Given the description of an element on the screen output the (x, y) to click on. 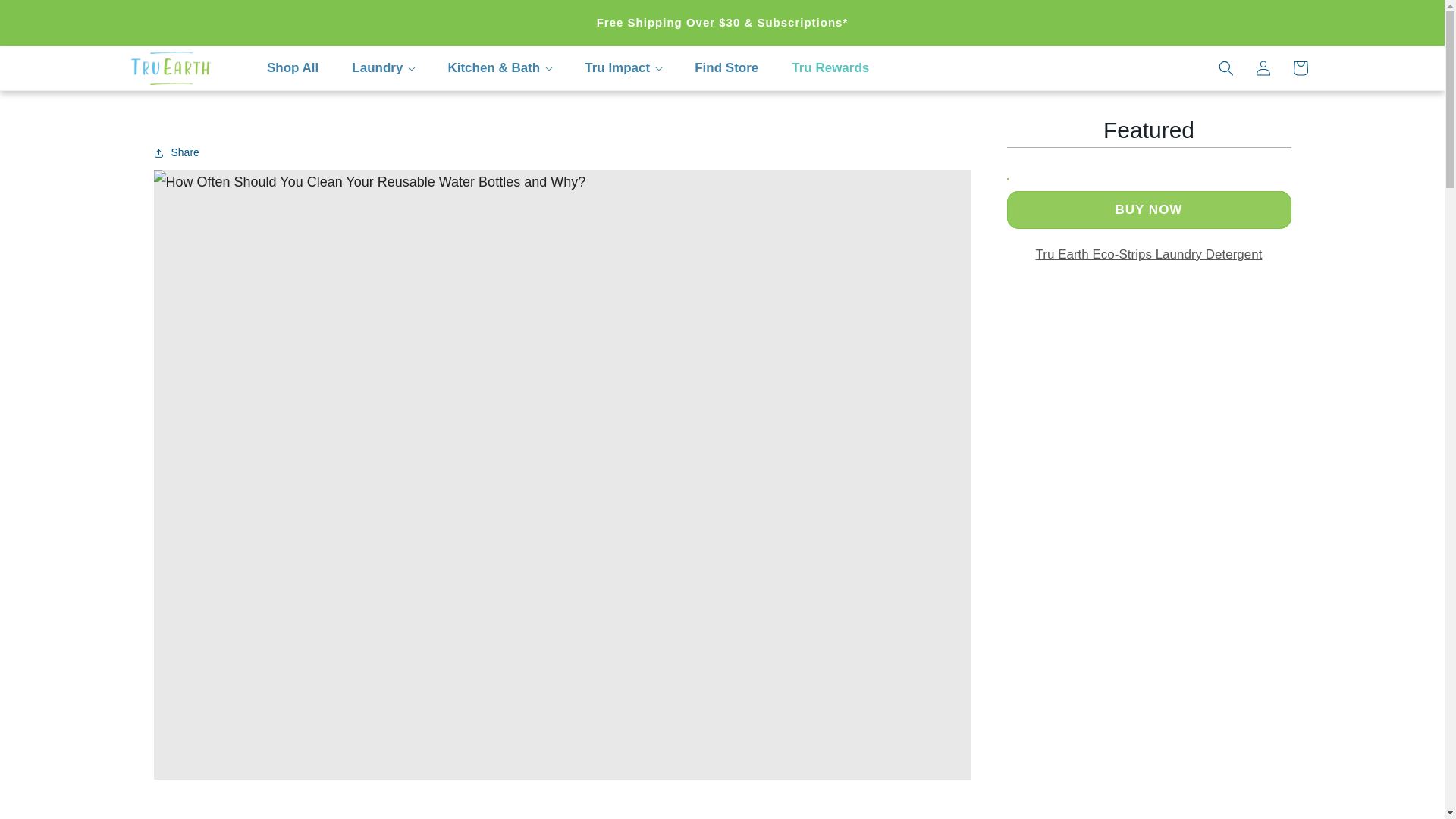
SKIP TO CONTENT (45, 18)
